Given the description of an element on the screen output the (x, y) to click on. 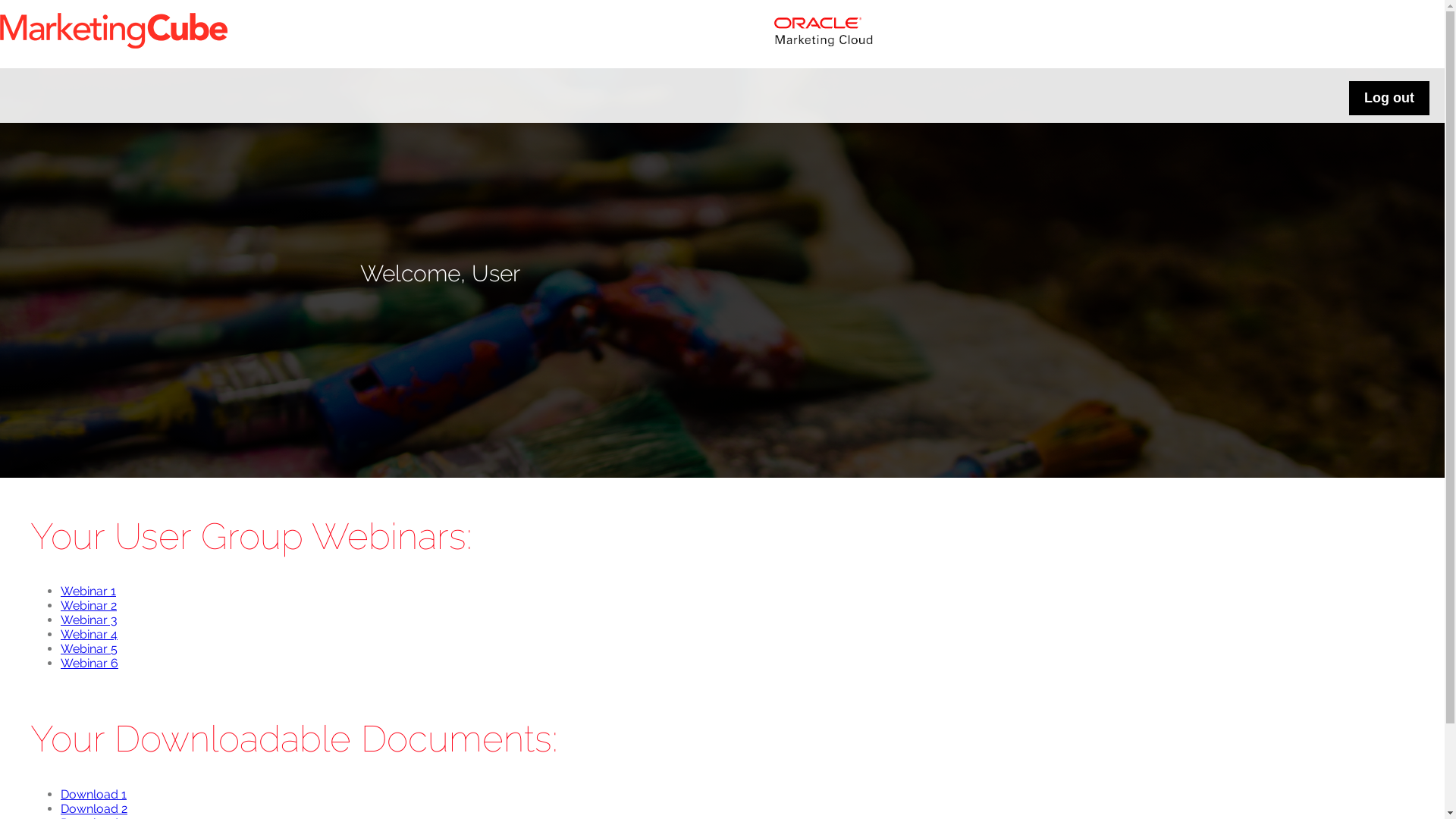
Log out Element type: text (1389, 97)
Webinar 1 Element type: text (88, 590)
Webinar 2 Element type: text (88, 605)
Download 2 Element type: text (93, 808)
Webinar 3 Element type: text (88, 619)
Webinar 6 Element type: text (89, 662)
Webinar 5 Element type: text (88, 648)
Download 1 Element type: text (93, 794)
Webinar 4 Element type: text (88, 634)
